Given the description of an element on the screen output the (x, y) to click on. 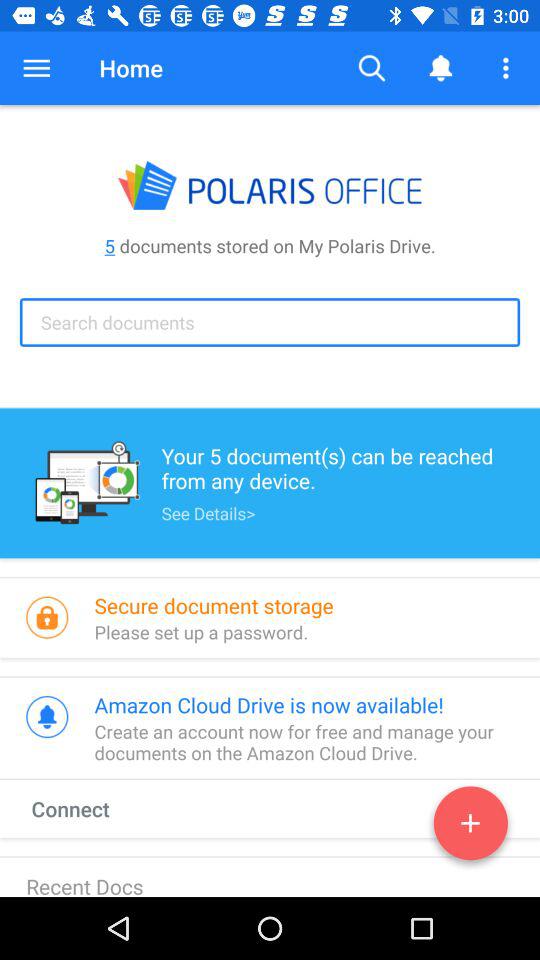
connect (470, 827)
